Given the description of an element on the screen output the (x, y) to click on. 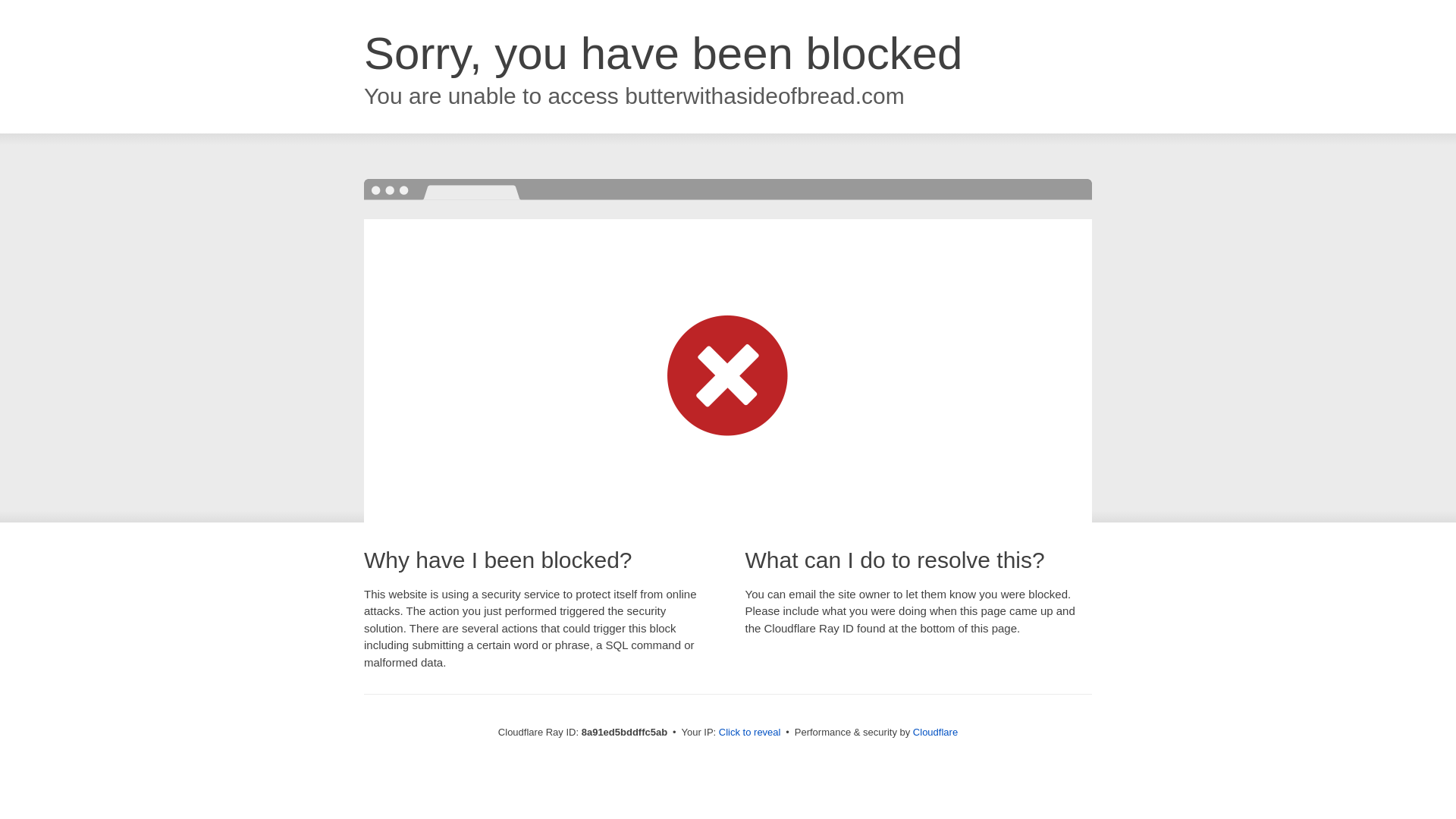
Cloudflare (935, 731)
Click to reveal (749, 732)
